Given the description of an element on the screen output the (x, y) to click on. 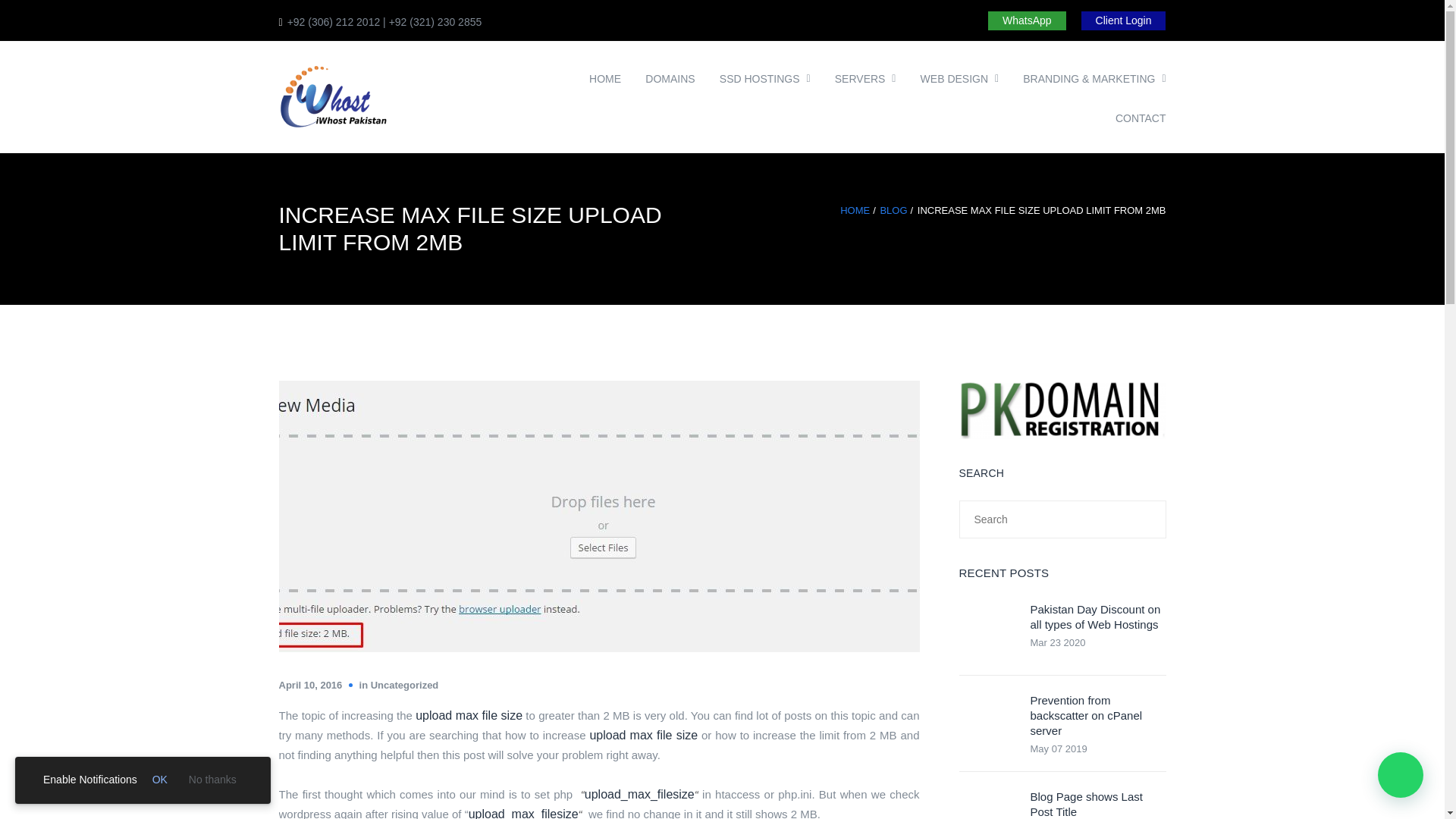
WhatsApp (1026, 20)
Client Login (1123, 20)
HOME (604, 78)
DOMAINS (669, 78)
SERVERS (860, 78)
SSD HOSTINGS (759, 78)
